Given the description of an element on the screen output the (x, y) to click on. 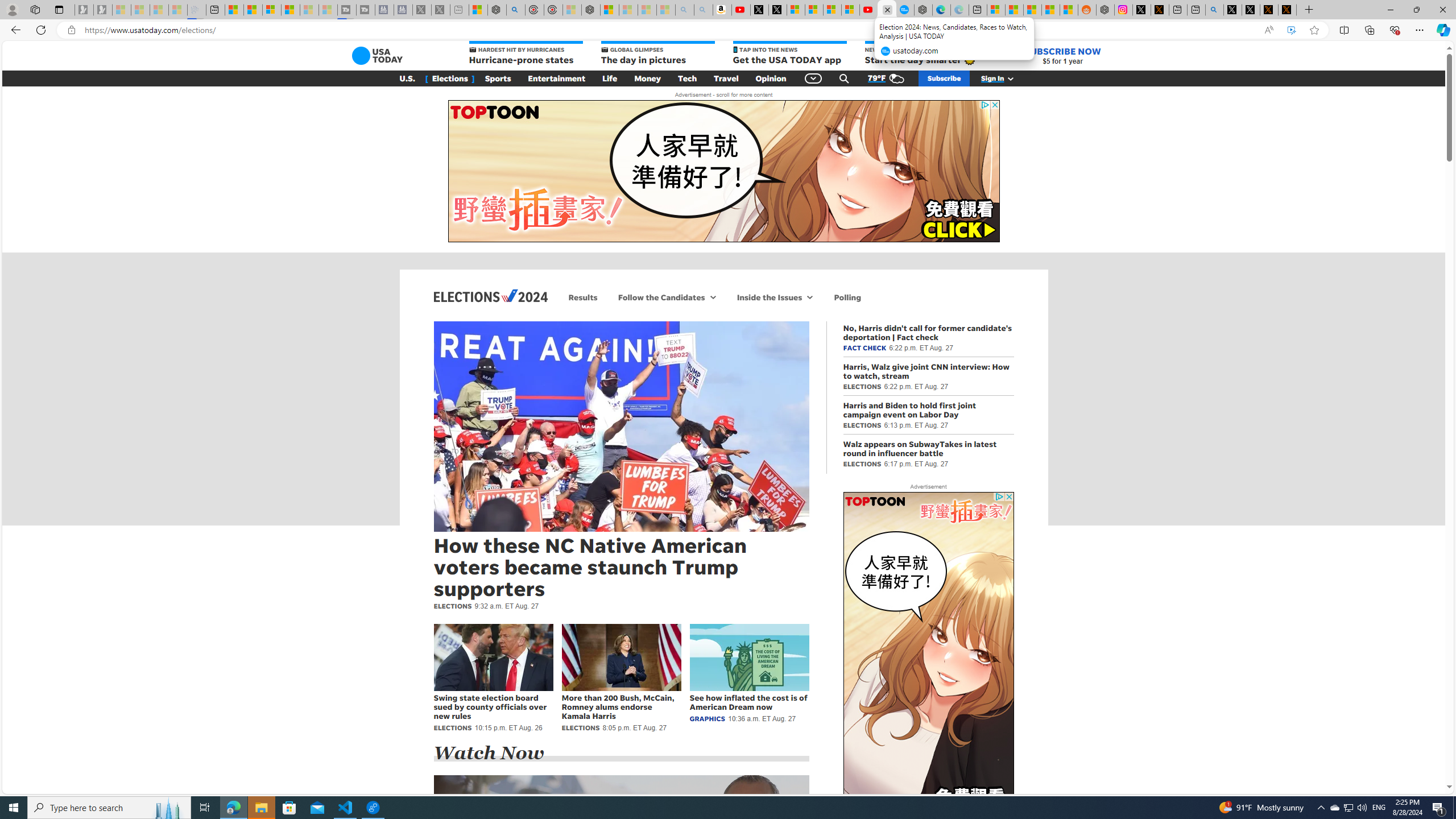
amazon - Search - Sleeping (684, 9)
Nordace - Nordace Siena Is Not An Ordinary Backpack (590, 9)
New tab - Sleeping (459, 9)
Results (582, 296)
Polling (846, 296)
X Privacy Policy (1287, 9)
